Given the description of an element on the screen output the (x, y) to click on. 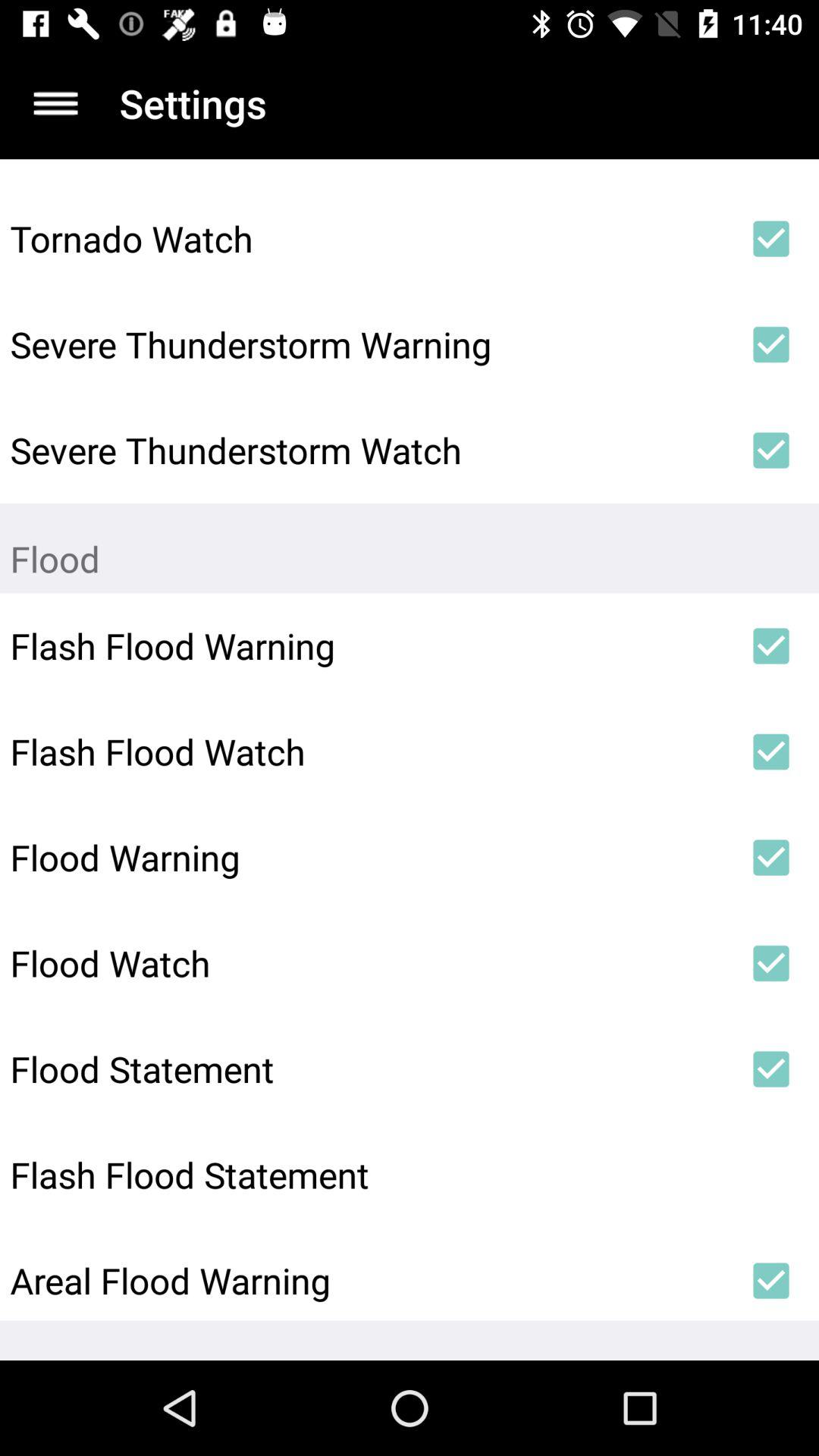
turn on item next to the flash flood statement icon (771, 1174)
